Given the description of an element on the screen output the (x, y) to click on. 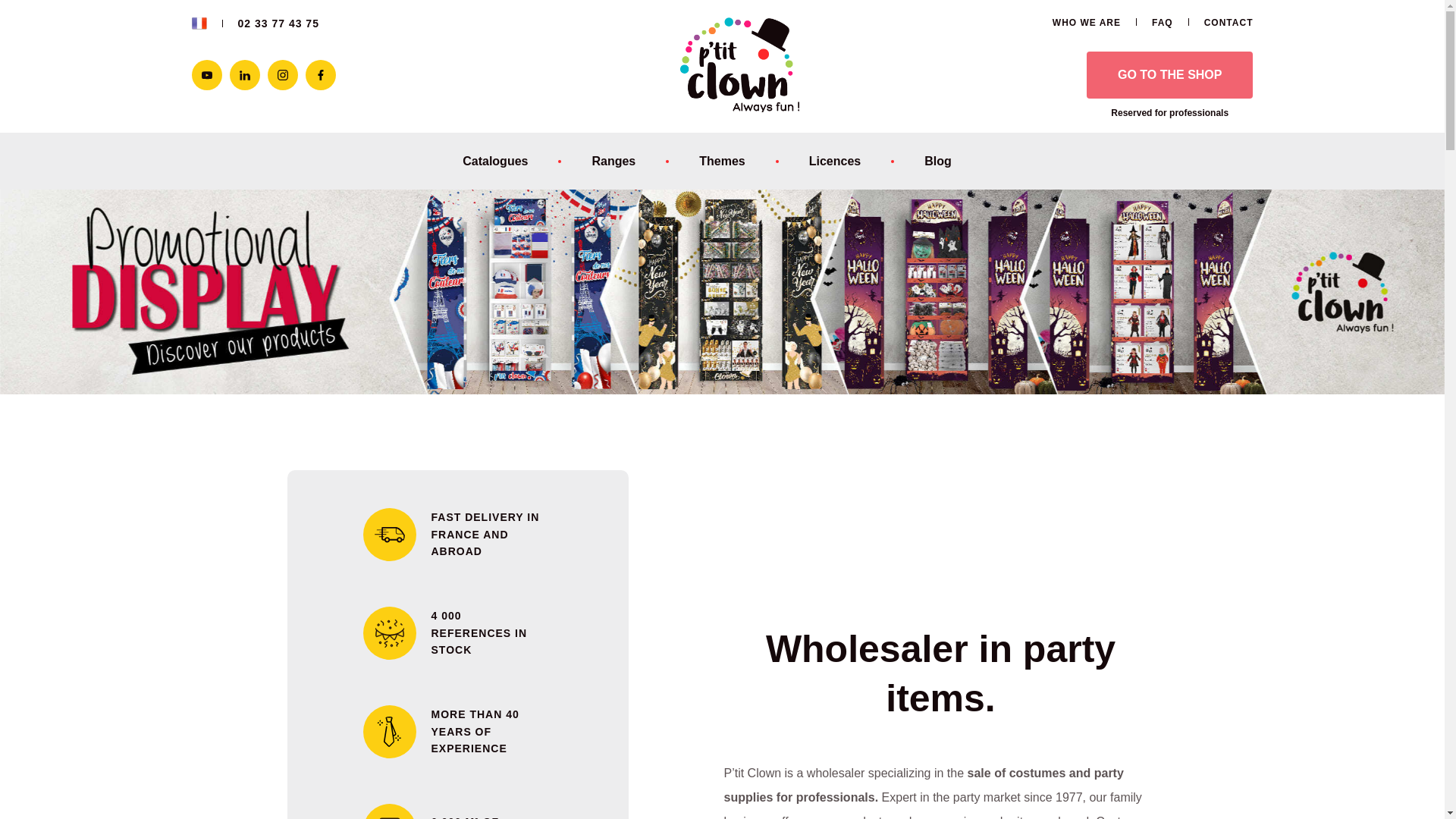
SamSam (851, 202)
FAQ (1162, 22)
Themes (737, 160)
Ranges (629, 160)
General (511, 202)
GO TO THE SHOP (1169, 74)
Halloween (737, 202)
CONTACT (1228, 22)
Licences (851, 160)
Accessories (629, 202)
